Given the description of an element on the screen output the (x, y) to click on. 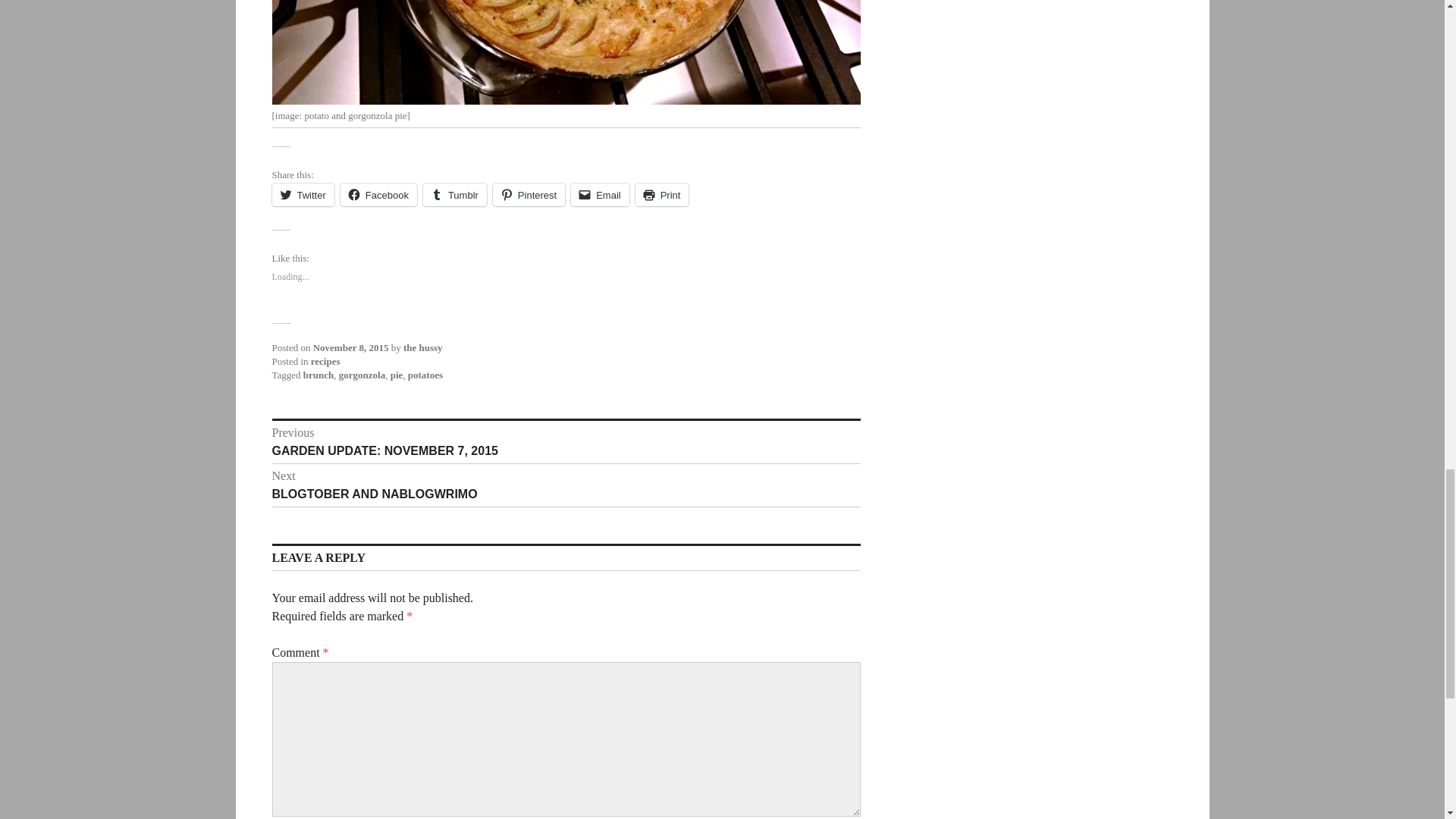
Click to share on Twitter (301, 194)
pie (396, 374)
Click to share on Facebook (378, 194)
Facebook (378, 194)
Twitter (301, 194)
Tumblr (454, 194)
the hussy (422, 346)
Pinterest (528, 194)
Email (565, 441)
Click to share on Pinterest (599, 194)
brunch (528, 194)
Print (565, 484)
potatoes (317, 374)
